Given the description of an element on the screen output the (x, y) to click on. 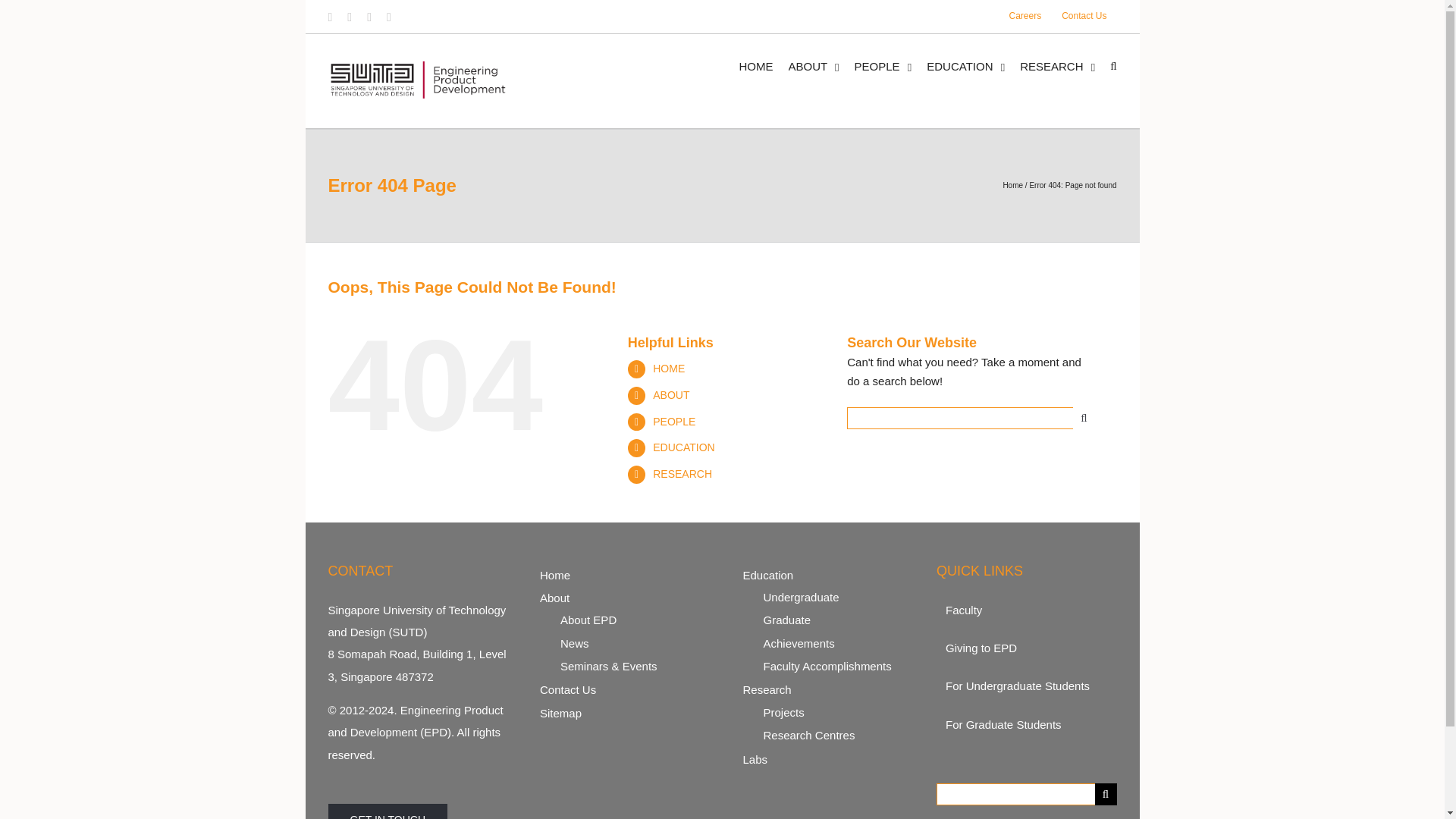
Contact Us (1083, 16)
EDUCATION (965, 65)
Careers (1024, 16)
PEOPLE (883, 65)
